Given the description of an element on the screen output the (x, y) to click on. 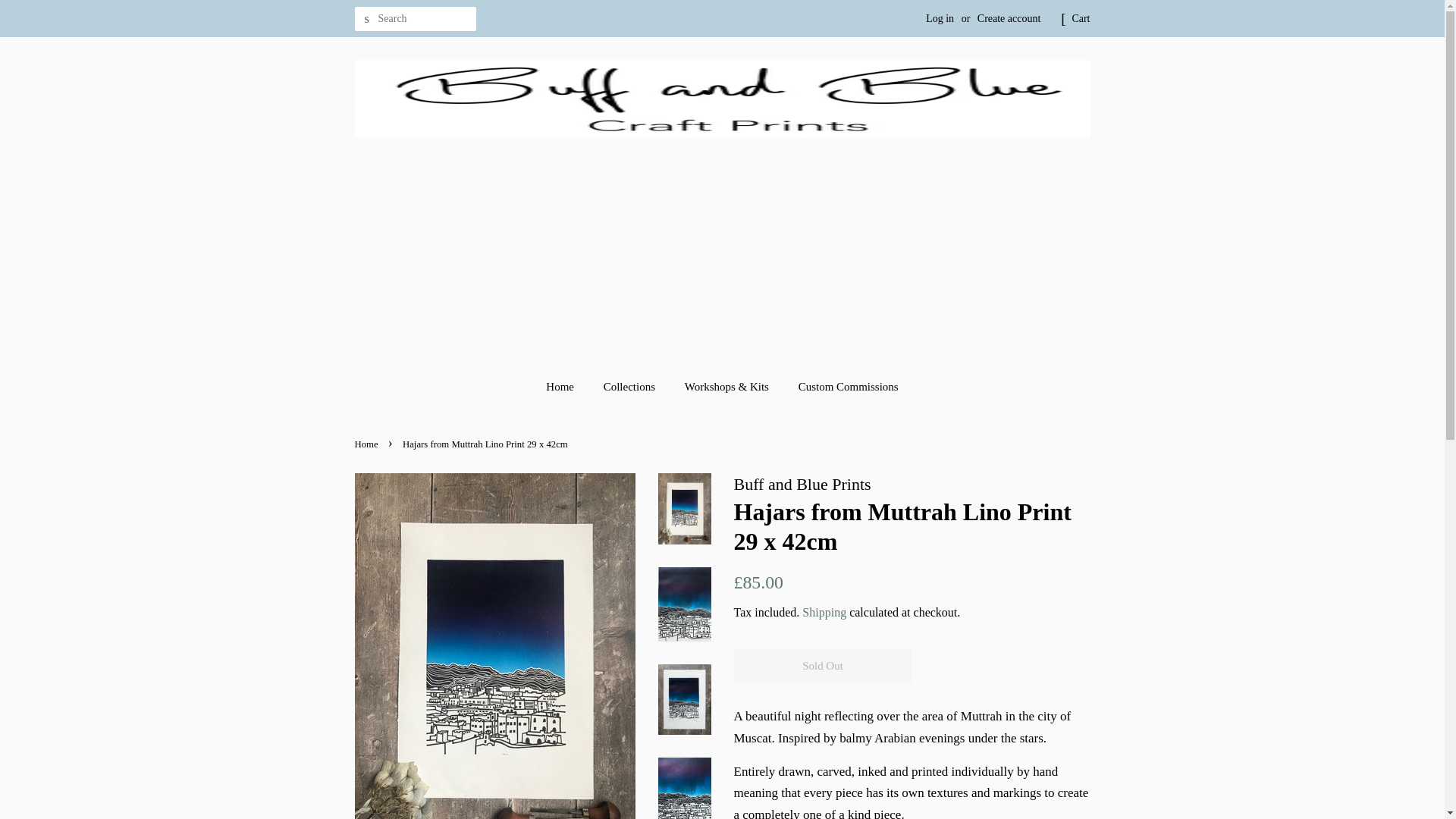
Home (368, 443)
Custom Commissions (842, 387)
Home (567, 387)
Back to the frontpage (368, 443)
Log in (939, 18)
Collections (630, 387)
Search (366, 18)
Shipping (823, 612)
Create account (1008, 18)
Sold Out (822, 666)
